Given the description of an element on the screen output the (x, y) to click on. 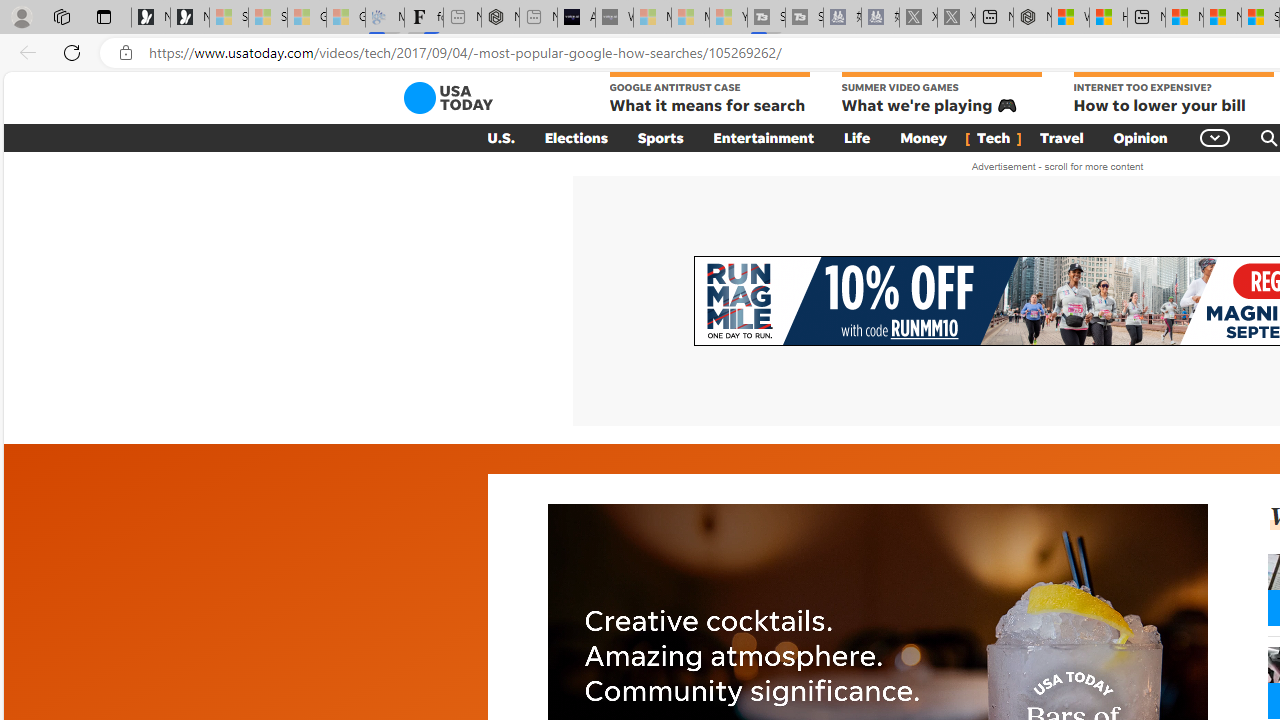
Elections (575, 137)
Class: gnt_n_lg_svg (447, 97)
INTERNET TOO EXPENSIVE? How to lower your bill (1172, 94)
Microsoft Start Sports - Sleeping (651, 17)
Global Navigation (1215, 137)
